Given the description of an element on the screen output the (x, y) to click on. 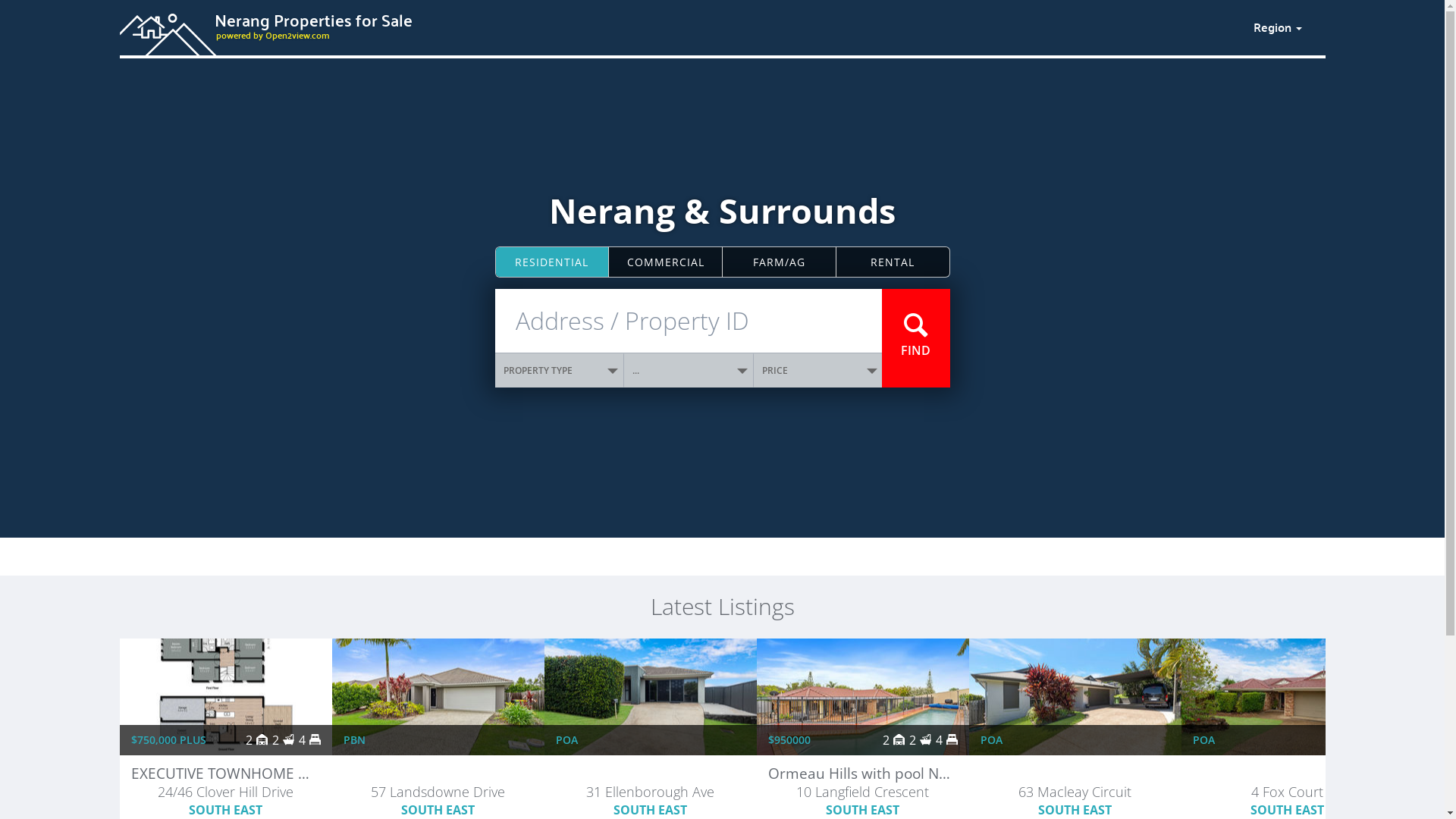
Property #852827 Element type: hover (1074, 775)
Property #854227 Element type: hover (437, 775)
... Element type: text (688, 370)
PRICE Element type: text (817, 370)
Property #850073 Element type: hover (649, 775)
PROPERTY TYPE Element type: text (559, 370)
Nerang Properties for Sale
powered by Open2view.com Element type: text (676, 25)
Property #852828 Element type: hover (1286, 775)
